Given the description of an element on the screen output the (x, y) to click on. 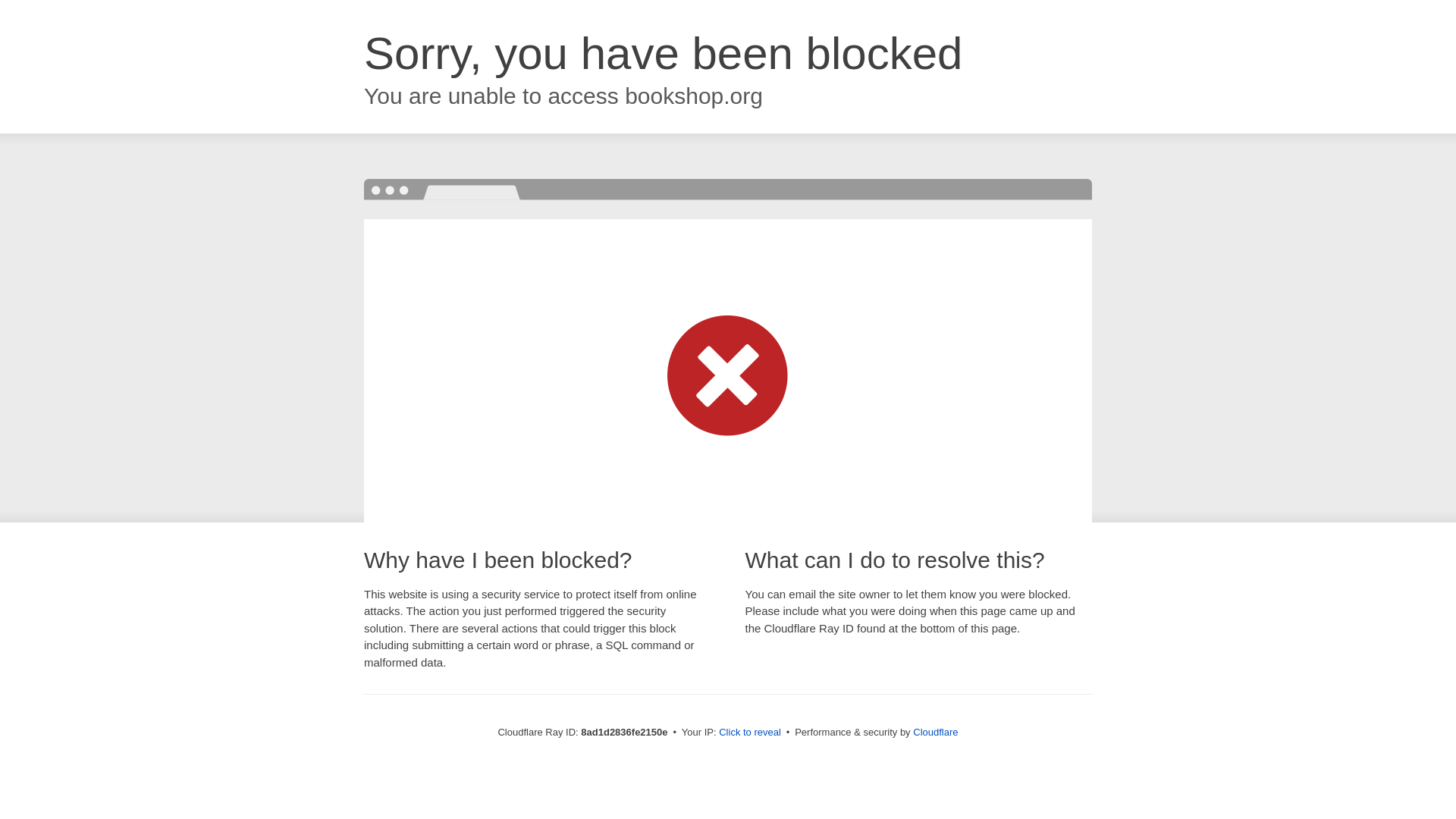
Click to reveal (749, 732)
Cloudflare (935, 731)
